Given the description of an element on the screen output the (x, y) to click on. 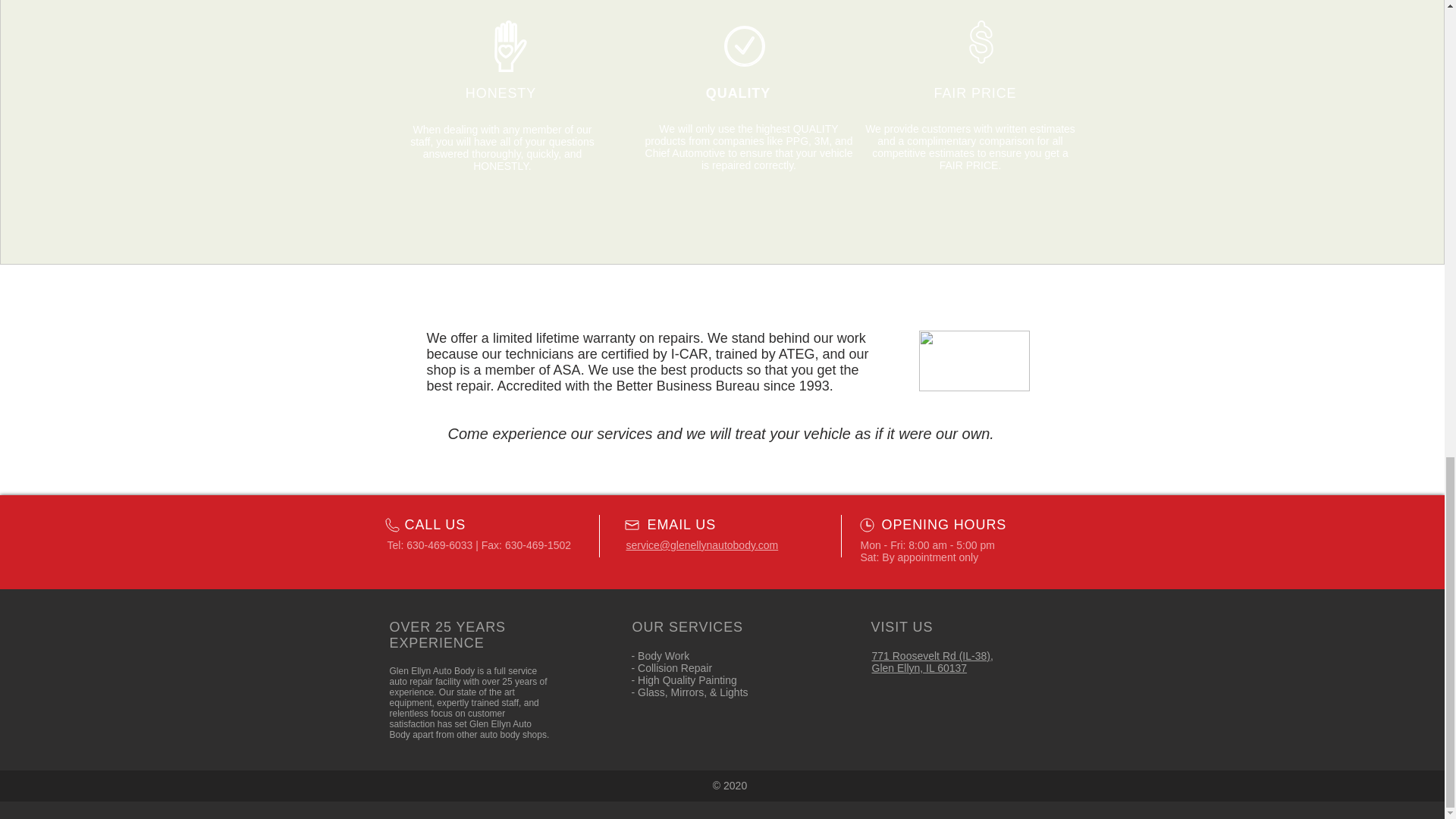
ASA (566, 369)
Glen Ellyn, IL 60137 (920, 667)
Better Business Bureau (687, 385)
ATEG (796, 353)
